Given the description of an element on the screen output the (x, y) to click on. 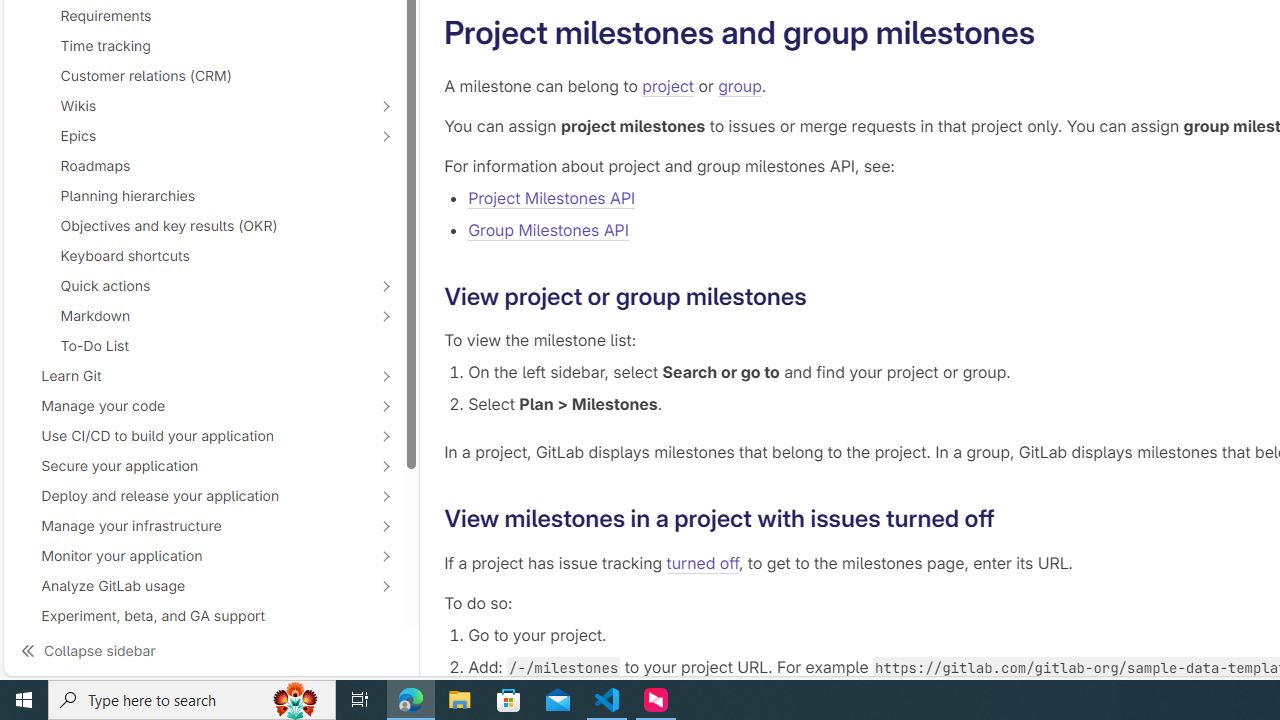
Find your GitLab version (203, 645)
Customer relations (CRM) (203, 75)
Use CI/CD to build your application (192, 435)
Time tracking (203, 45)
project (668, 85)
Group Milestones API (548, 229)
Learn Git (192, 375)
Permalink (1010, 518)
turned off (702, 562)
Collapse sidebar (211, 650)
Epics (192, 135)
Keyboard shortcuts (203, 255)
To-Do List (203, 345)
Markdown (192, 315)
Deploy and release your application (192, 495)
